Given the description of an element on the screen output the (x, y) to click on. 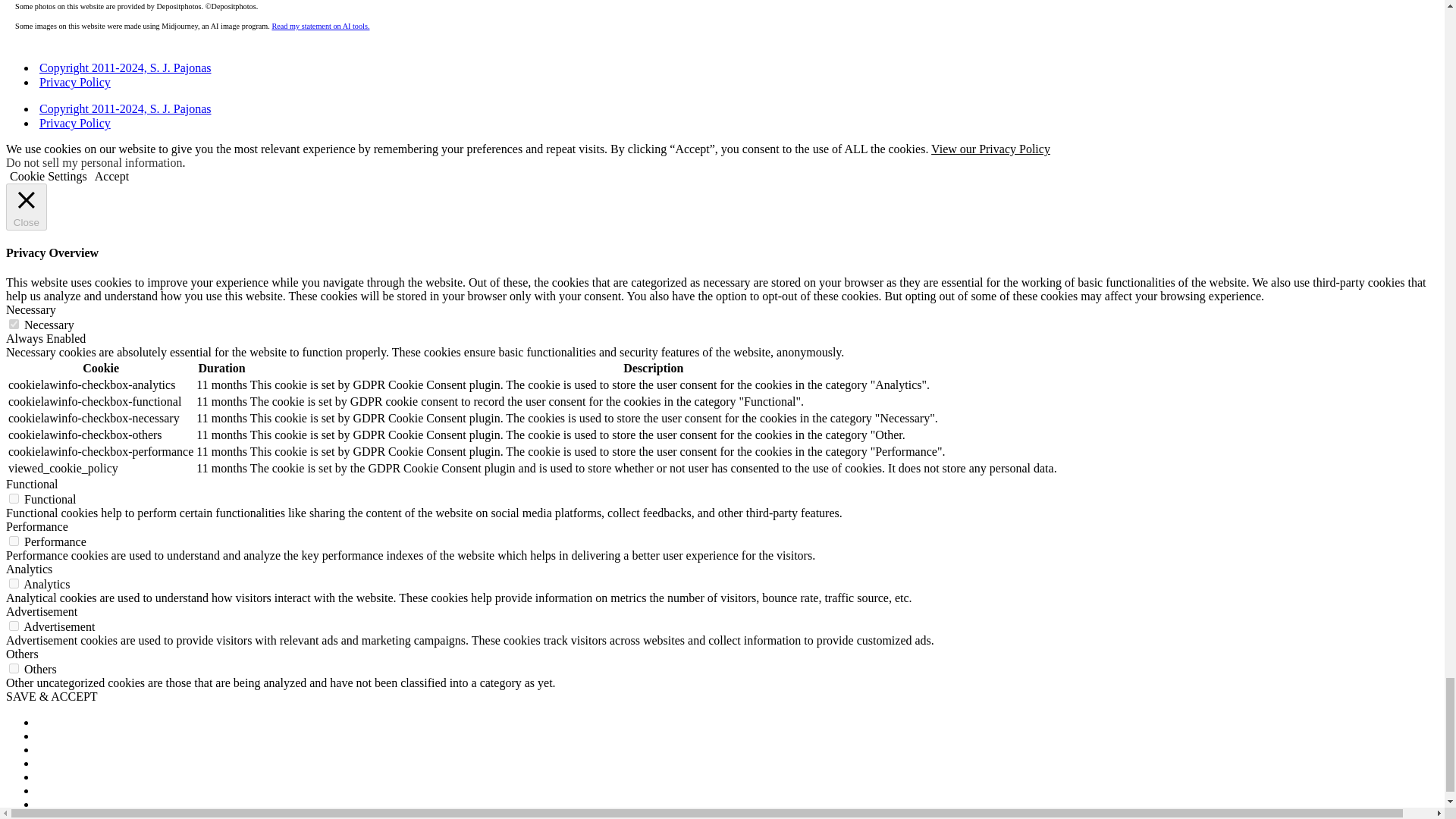
on (13, 668)
on (13, 541)
on (13, 324)
on (13, 583)
on (13, 625)
on (13, 498)
